Given the description of an element on the screen output the (x, y) to click on. 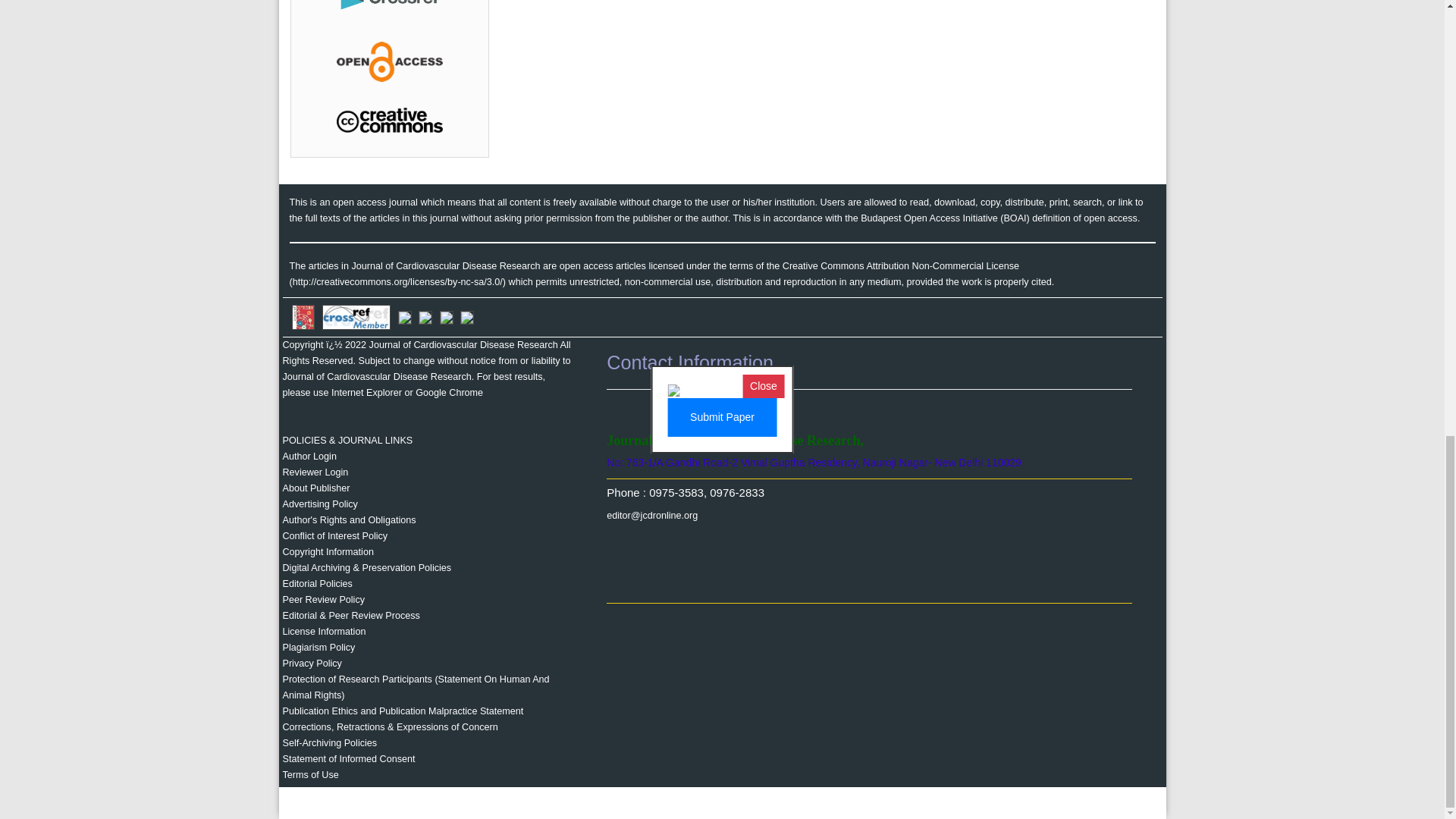
Editorial Policies (317, 583)
Copyright Information (327, 552)
Advertising Policy (319, 503)
Conflict of Interest Policy (334, 535)
Peer Review Policy (323, 599)
Author's Rights and Obligations (348, 520)
Reviewer Login (314, 471)
About Publisher (315, 488)
Author Login (309, 456)
License Information (323, 631)
